Given the description of an element on the screen output the (x, y) to click on. 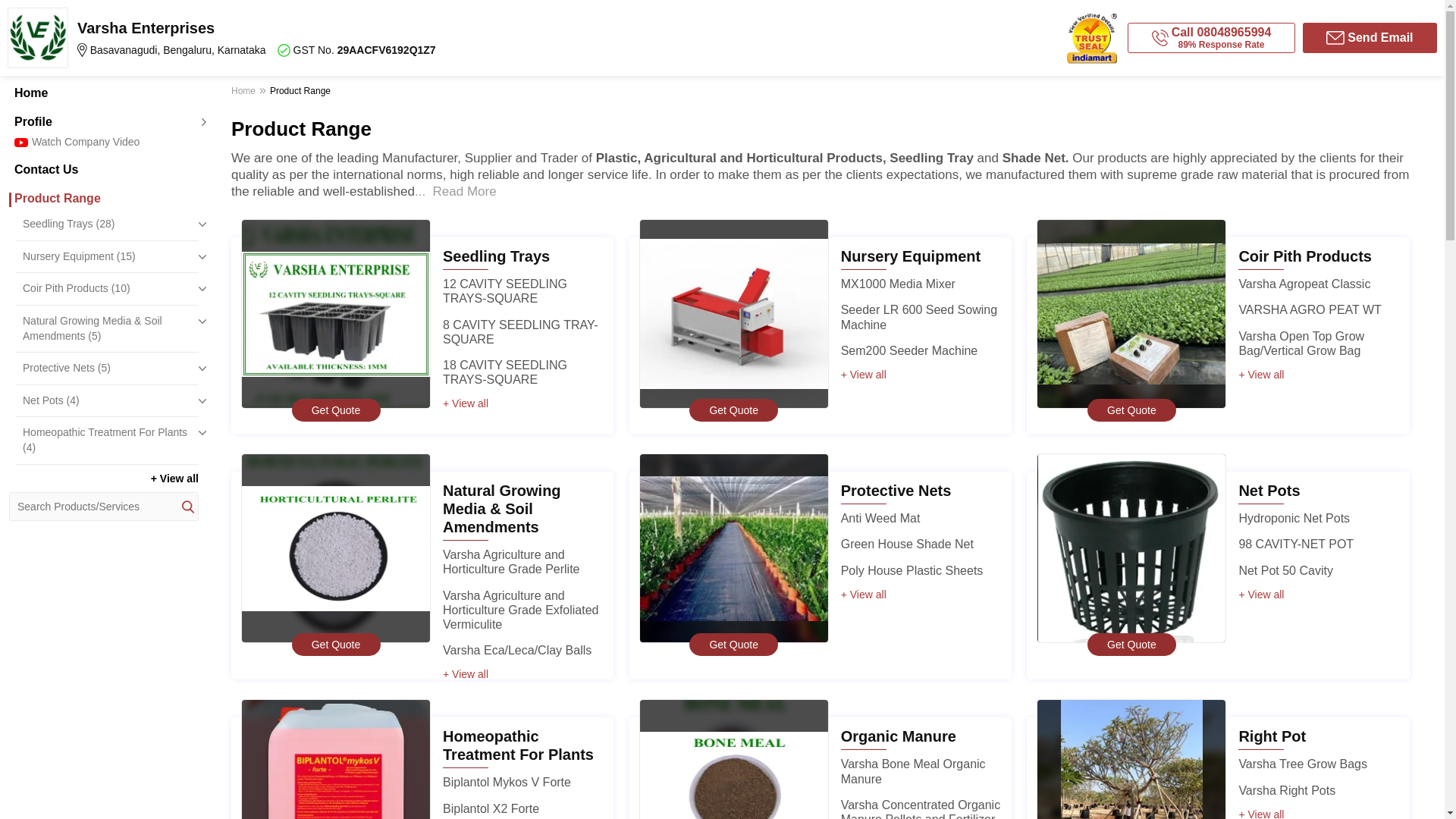
Profile (103, 121)
Home (103, 92)
Contact Us (103, 169)
Product Range (103, 198)
